Given the description of an element on the screen output the (x, y) to click on. 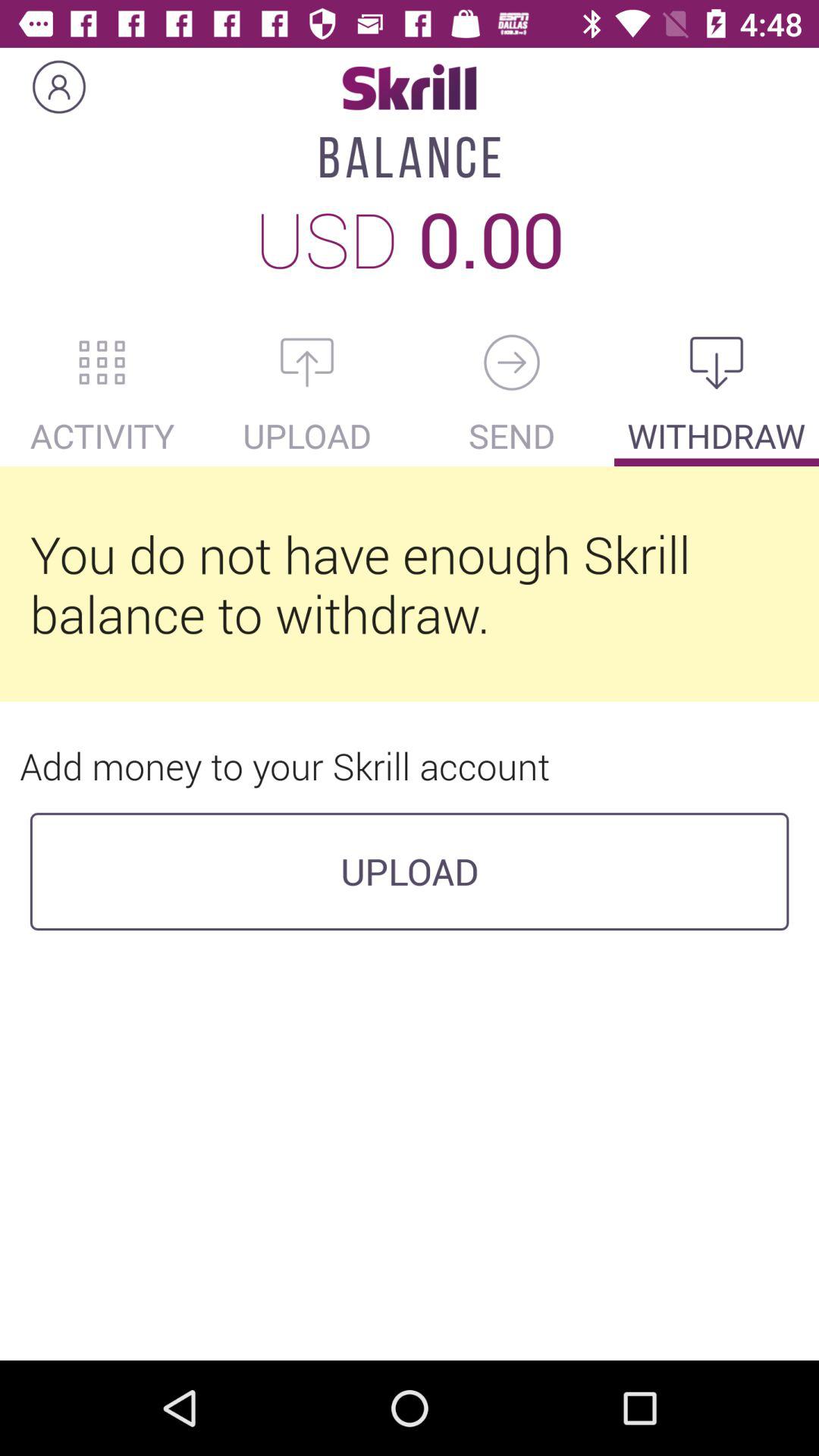
view your skrill activity (102, 362)
